Given the description of an element on the screen output the (x, y) to click on. 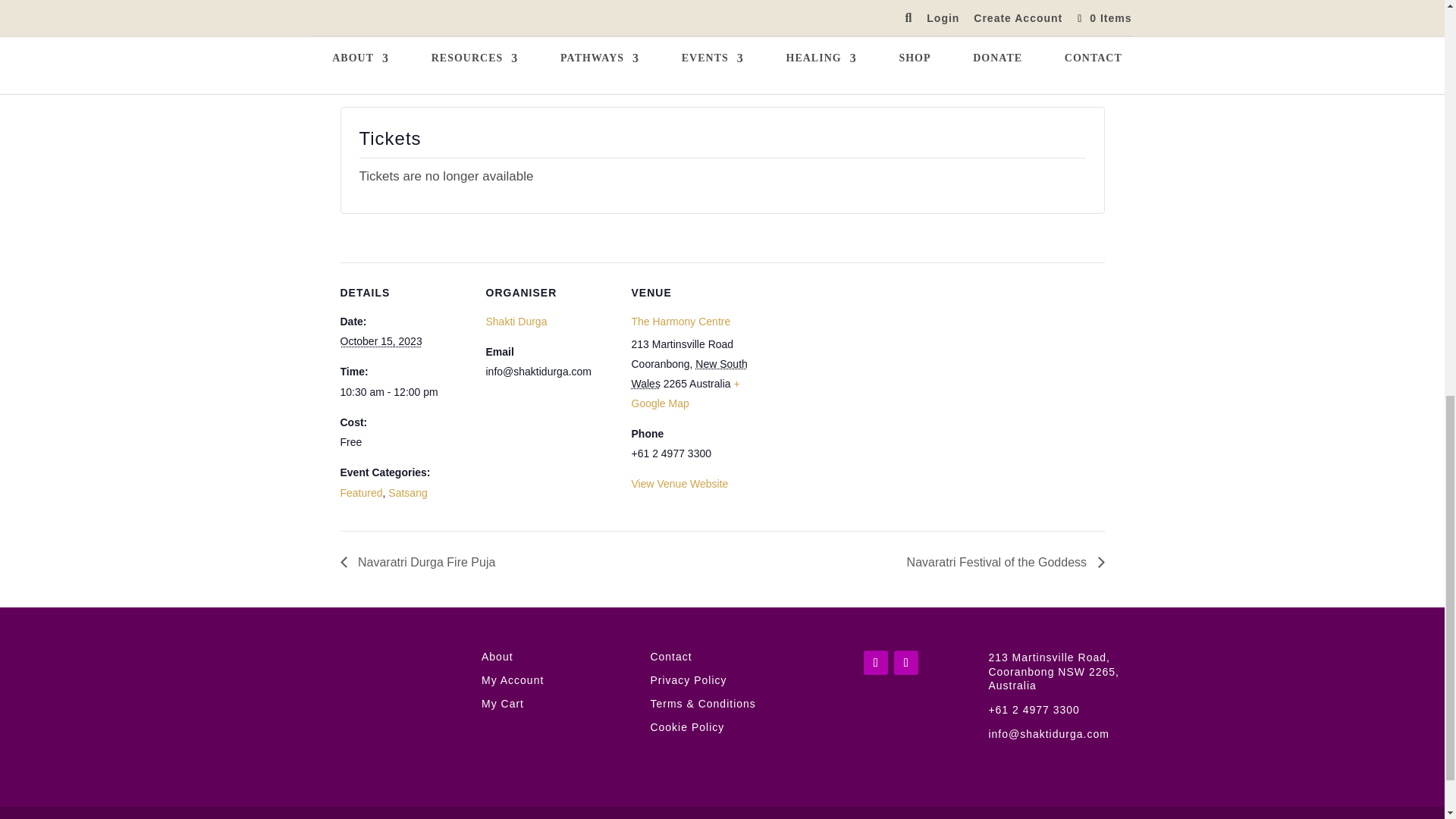
Click to view a Google Map (684, 393)
2023-10-15 (403, 393)
Shakti Durga (515, 321)
Shakti Durga Logo 120 x 120 white (384, 696)
Follow on Instagram (905, 662)
Follow on Facebook (875, 662)
New South Wales (688, 373)
2023-10-15 (380, 340)
